Given the description of an element on the screen output the (x, y) to click on. 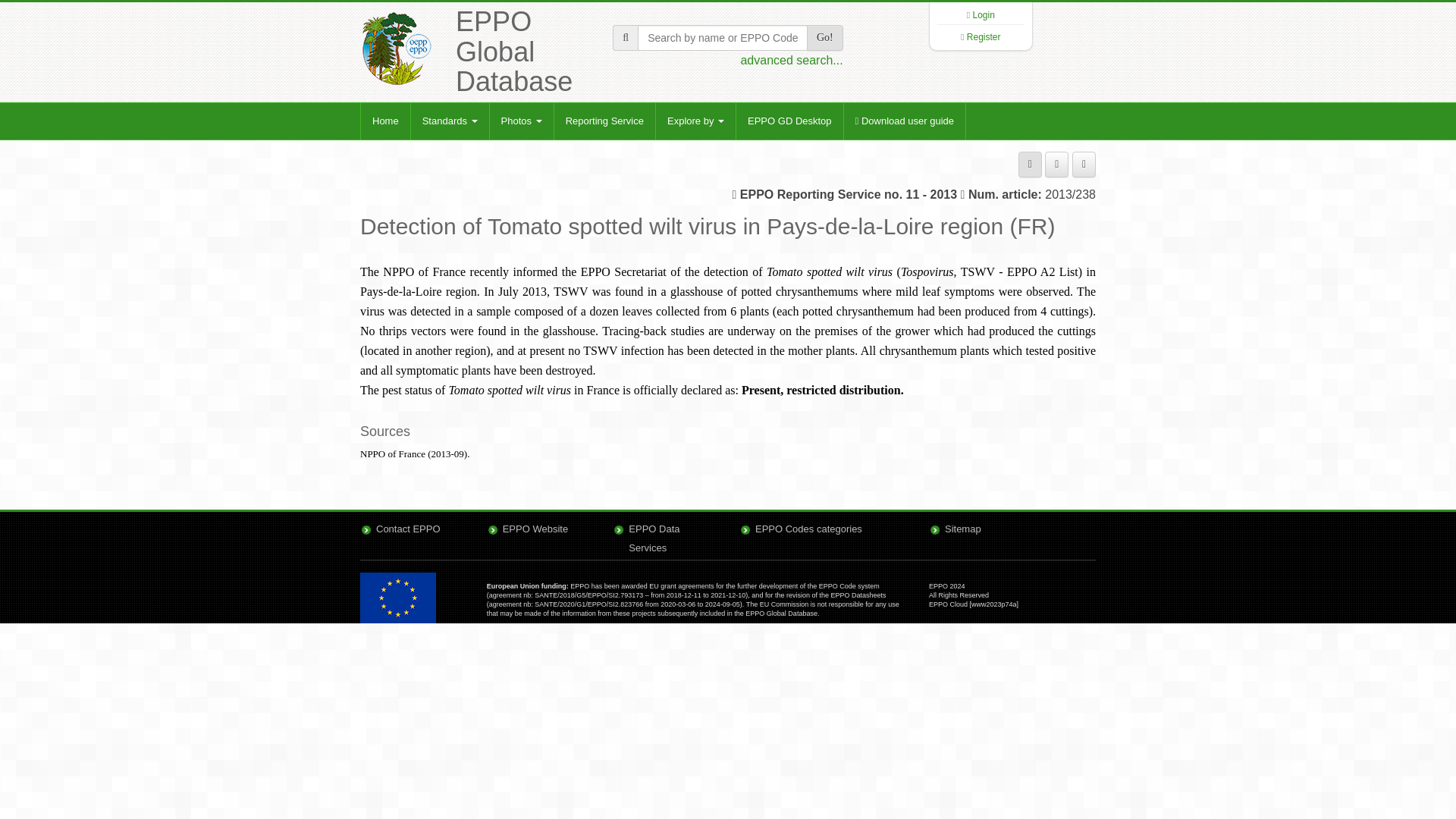
EPPO GD Desktop (789, 121)
Register (983, 36)
Share on facebook (1056, 164)
advanced search... (791, 60)
Share on twitter (1083, 164)
Standards (449, 121)
Go! (824, 37)
Reporting Service (604, 121)
Home (384, 121)
Print (1029, 164)
